Given the description of an element on the screen output the (x, y) to click on. 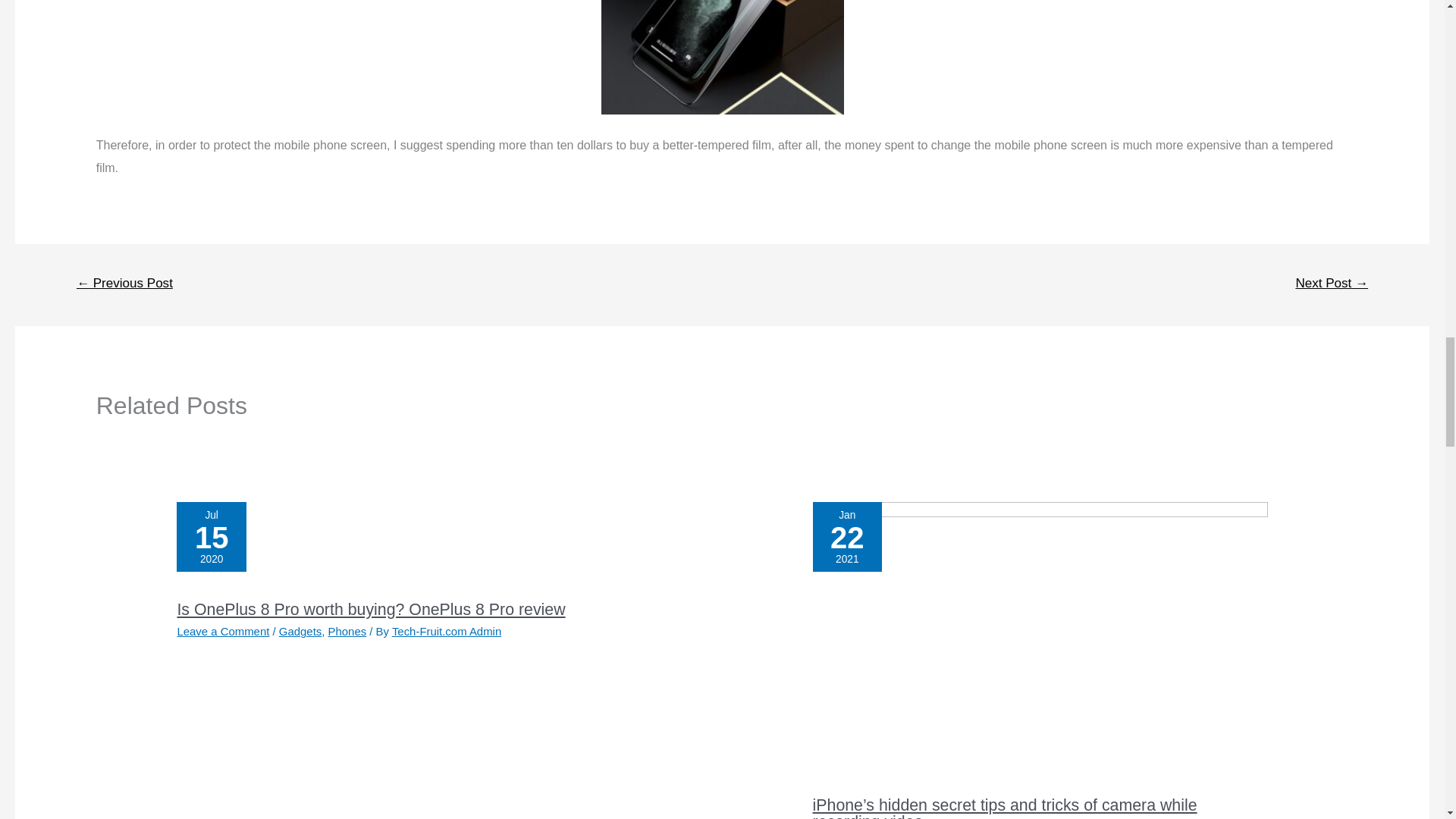
View all posts by Tech-Fruit.com Admin (445, 631)
